Given the description of an element on the screen output the (x, y) to click on. 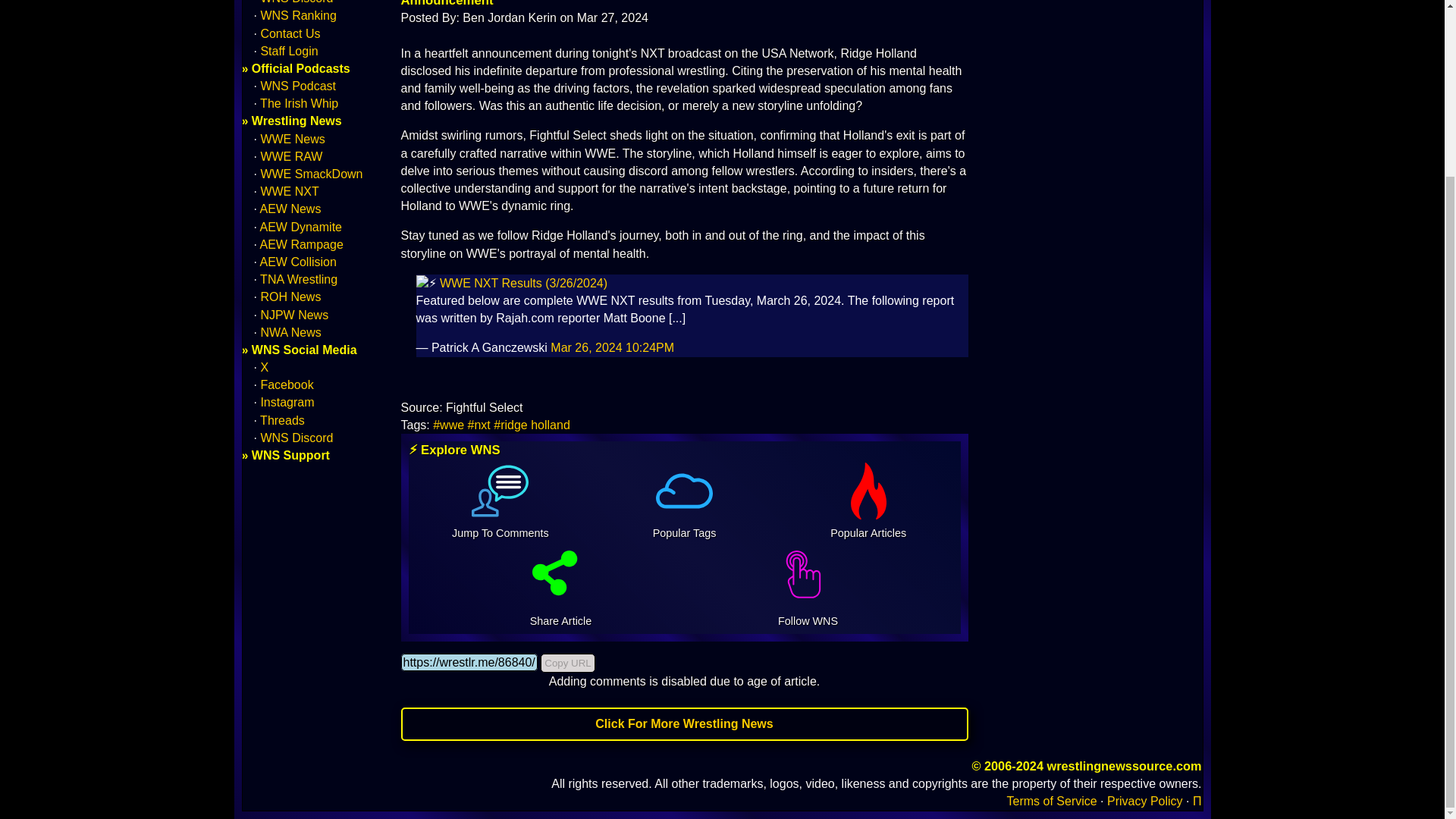
WWE SmackDown (311, 173)
NWA News (290, 332)
ROH News (290, 296)
NJPW News (294, 314)
WWE NXT (289, 191)
AEW News (290, 208)
The Irish Whip (298, 103)
Threads (282, 420)
X (263, 367)
AEW Rampage (301, 244)
WWE News (292, 138)
WWE RAW (290, 155)
Contact Us (290, 32)
WNS Discord (296, 2)
TNA Wrestling (298, 278)
